Given the description of an element on the screen output the (x, y) to click on. 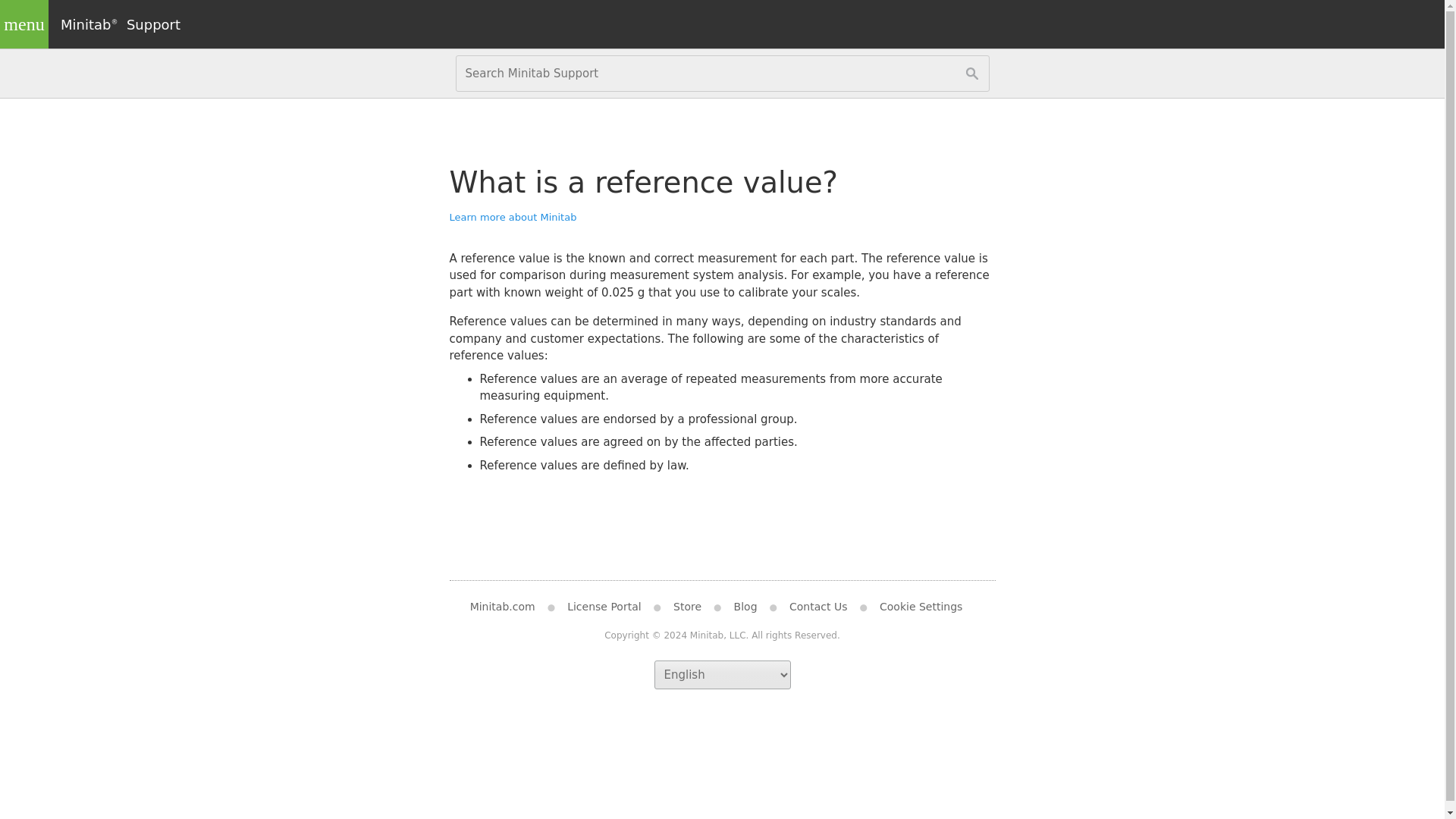
Blog (746, 606)
Cookie Settings (920, 606)
License Portal (603, 606)
Minitab.com (508, 606)
Store (687, 606)
Learn more about Minitab (512, 216)
Contact Us (818, 606)
